Given the description of an element on the screen output the (x, y) to click on. 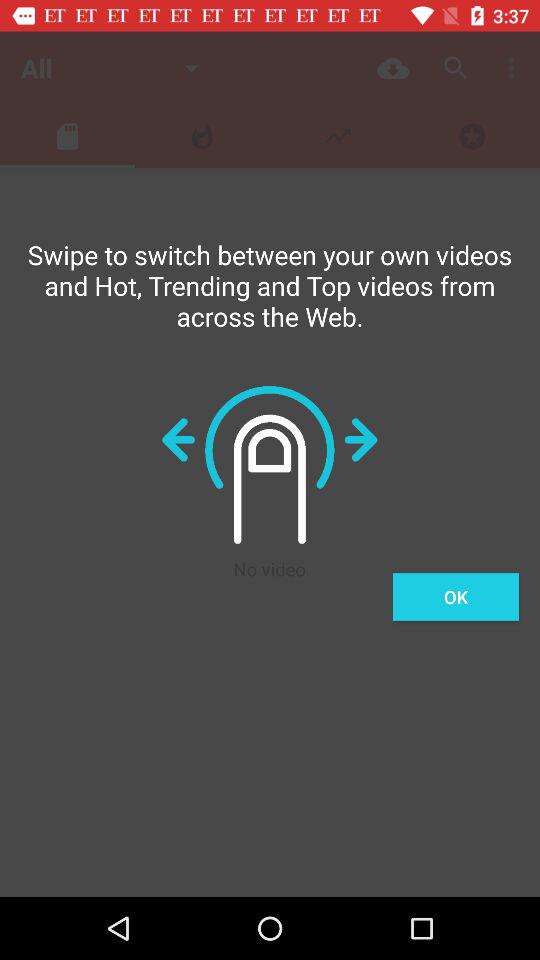
choose the item on the right (456, 596)
